Given the description of an element on the screen output the (x, y) to click on. 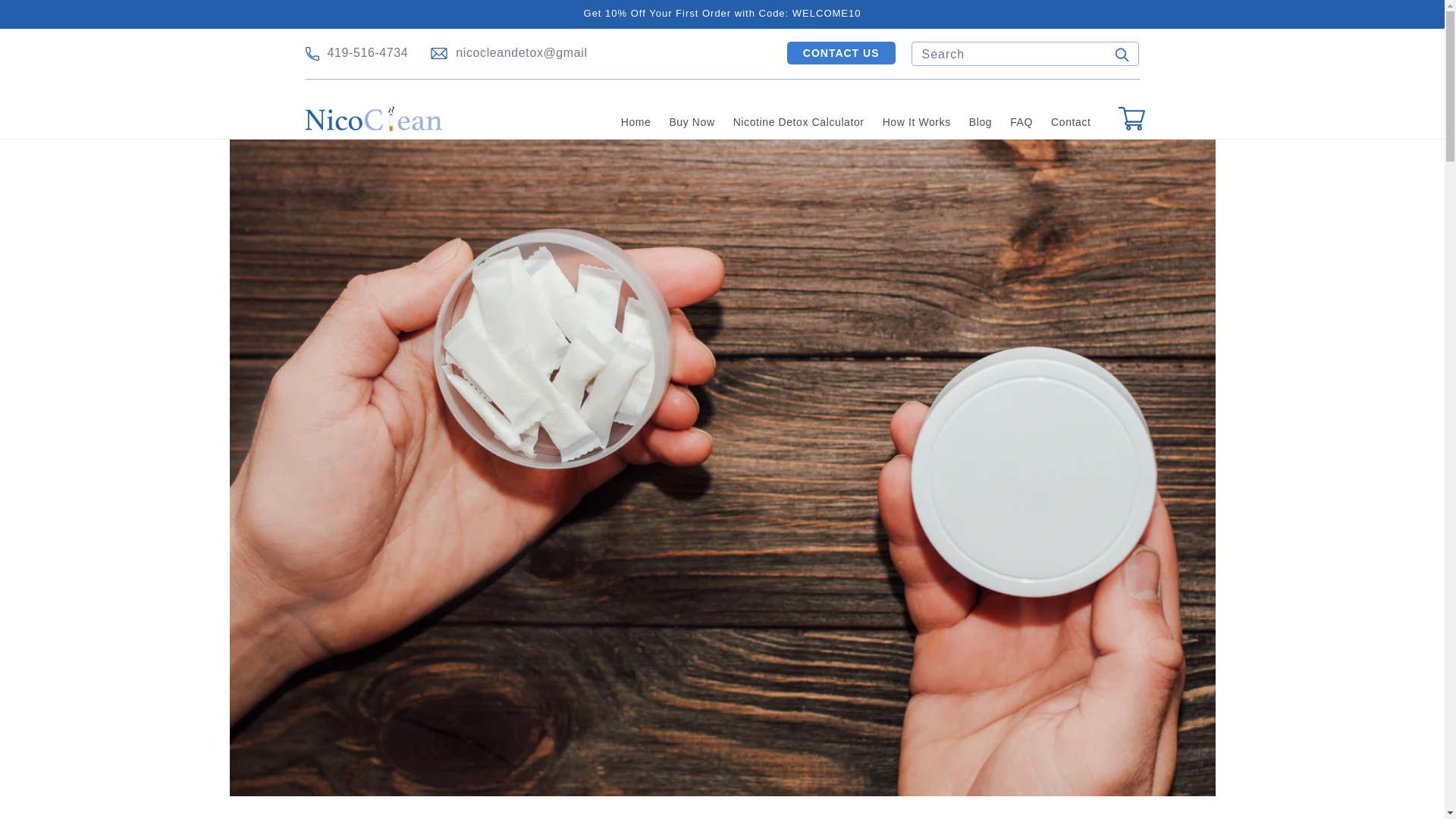
Skip to content (45, 16)
Cart (1131, 118)
Blog (980, 122)
How It Works (916, 122)
Home (636, 122)
Buy Now (691, 122)
419-516-4734 (368, 53)
Contact (1070, 122)
CONTACT US (841, 52)
Nicotine Detox Calculator (798, 122)
FAQ (1021, 122)
